Given the description of an element on the screen output the (x, y) to click on. 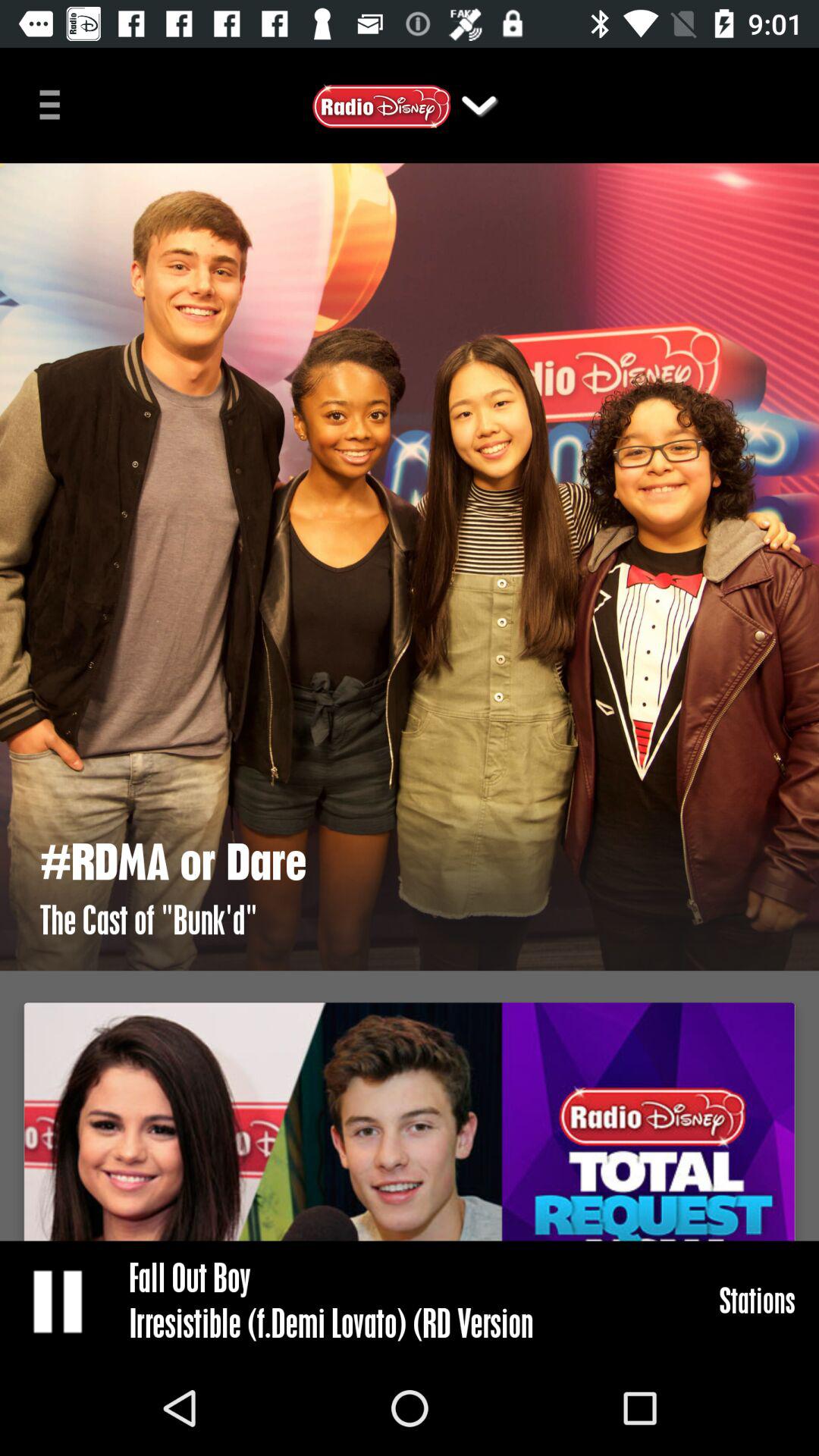
press the item to the right of fall out boy icon (757, 1300)
